Given the description of an element on the screen output the (x, y) to click on. 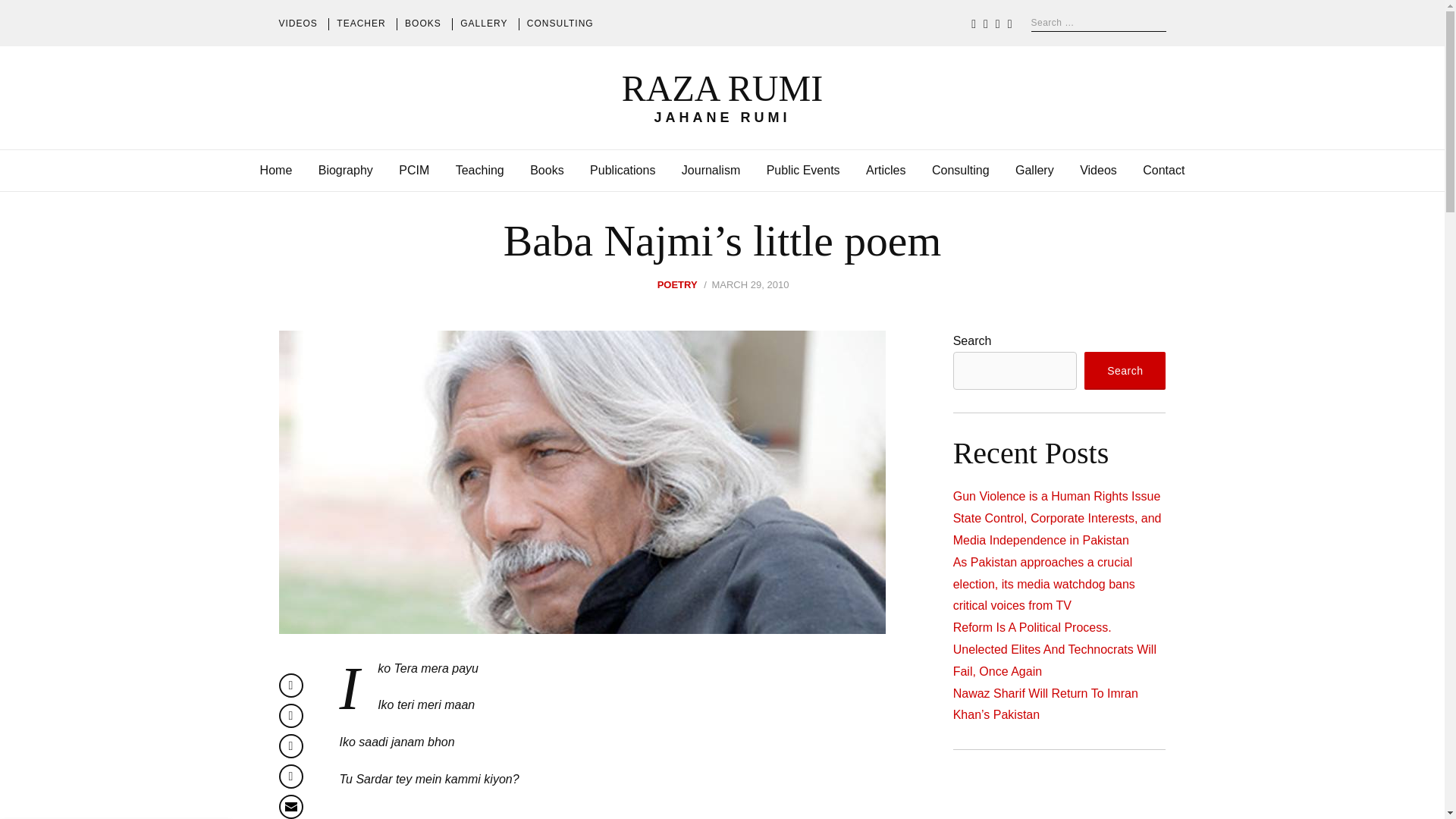
Twitter (290, 715)
CONSULTING (560, 24)
GALLERY (483, 24)
Email (290, 806)
BOOKS (422, 24)
RAZA RUMI (721, 88)
Videos (1098, 169)
Gallery (1034, 169)
Public Events (803, 169)
Articles (885, 169)
Journalism (710, 169)
TEACHER (360, 24)
Whatsapp (290, 776)
Teaching (479, 169)
VIDEOS (298, 24)
